Given the description of an element on the screen output the (x, y) to click on. 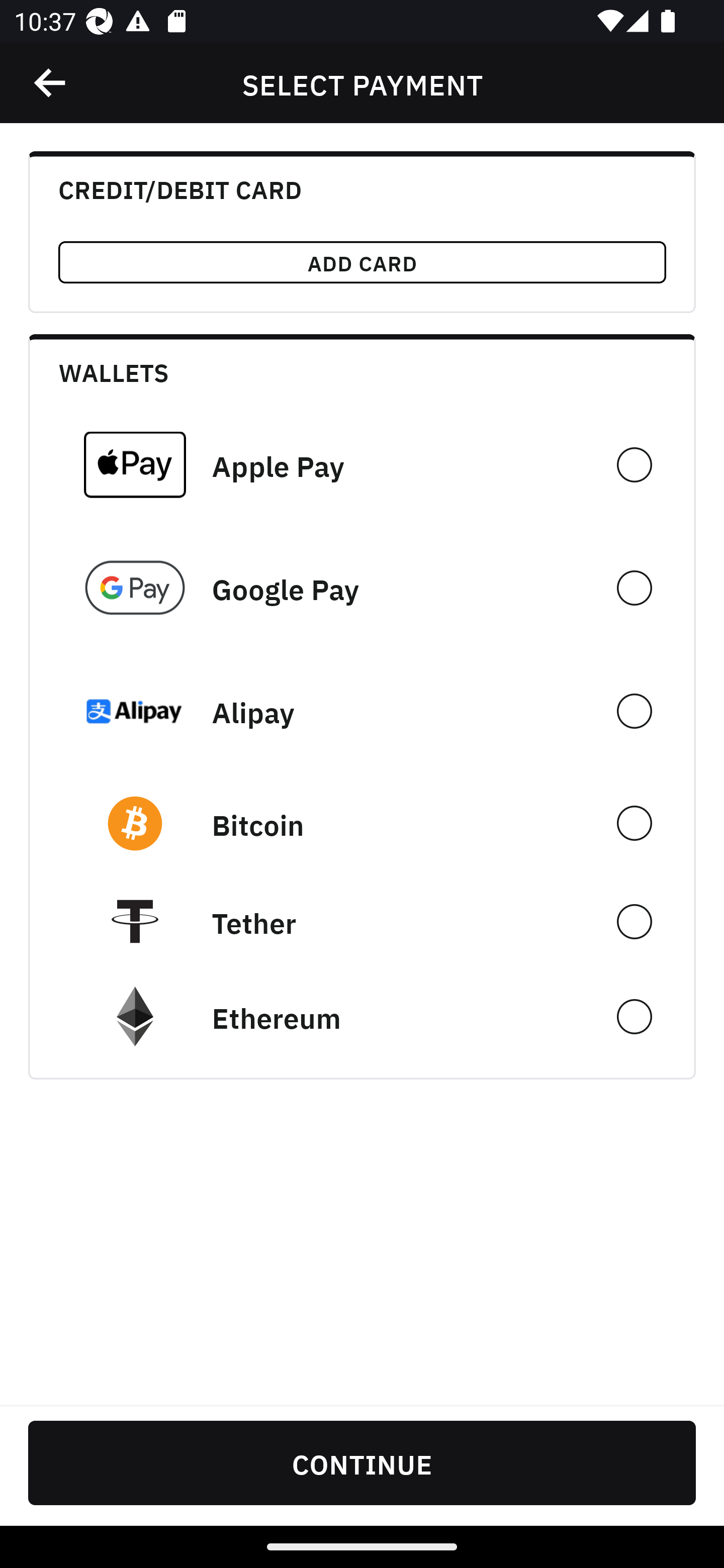
 (50, 83)
ADD CARD (362, 262)
Apple Pay (362, 464)
Google Pay (362, 587)
Alipay (362, 711)
󰠓 Bitcoin (362, 823)
Tether (362, 921)
Ethereum (362, 1016)
CONTINUE (361, 1462)
